Given the description of an element on the screen output the (x, y) to click on. 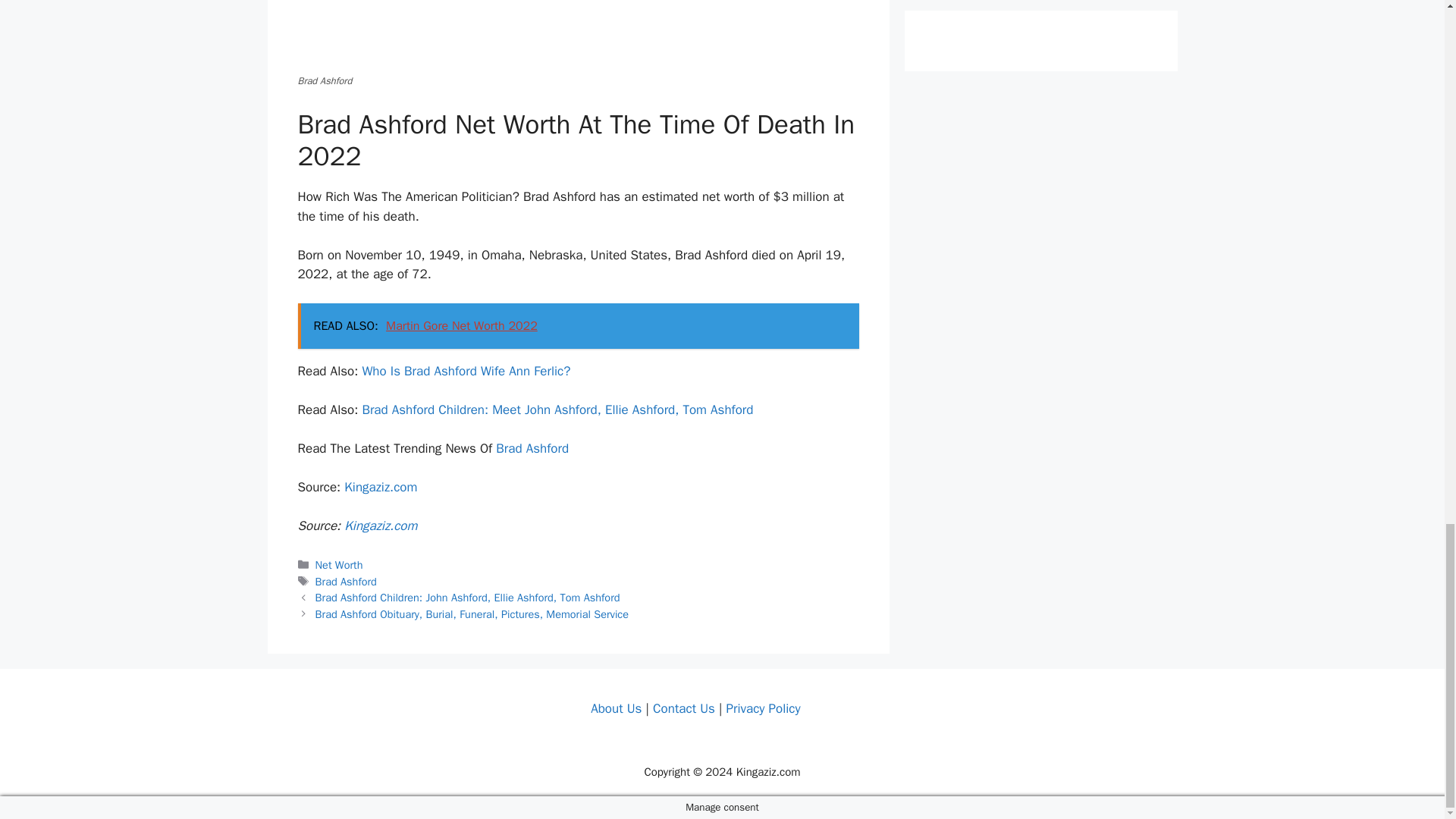
Kingaziz.com (379, 487)
READ ALSO:  Martin Gore Net Worth 2022 (578, 325)
Kingaziz.com (379, 525)
Contact Us (683, 708)
Net Worth (338, 564)
Who Is Brad Ashford Wife Ann Ferlic? (465, 371)
Brad Ashford (532, 448)
About Us (616, 708)
Brad Ashford (346, 581)
Privacy Policy (762, 708)
